Given the description of an element on the screen output the (x, y) to click on. 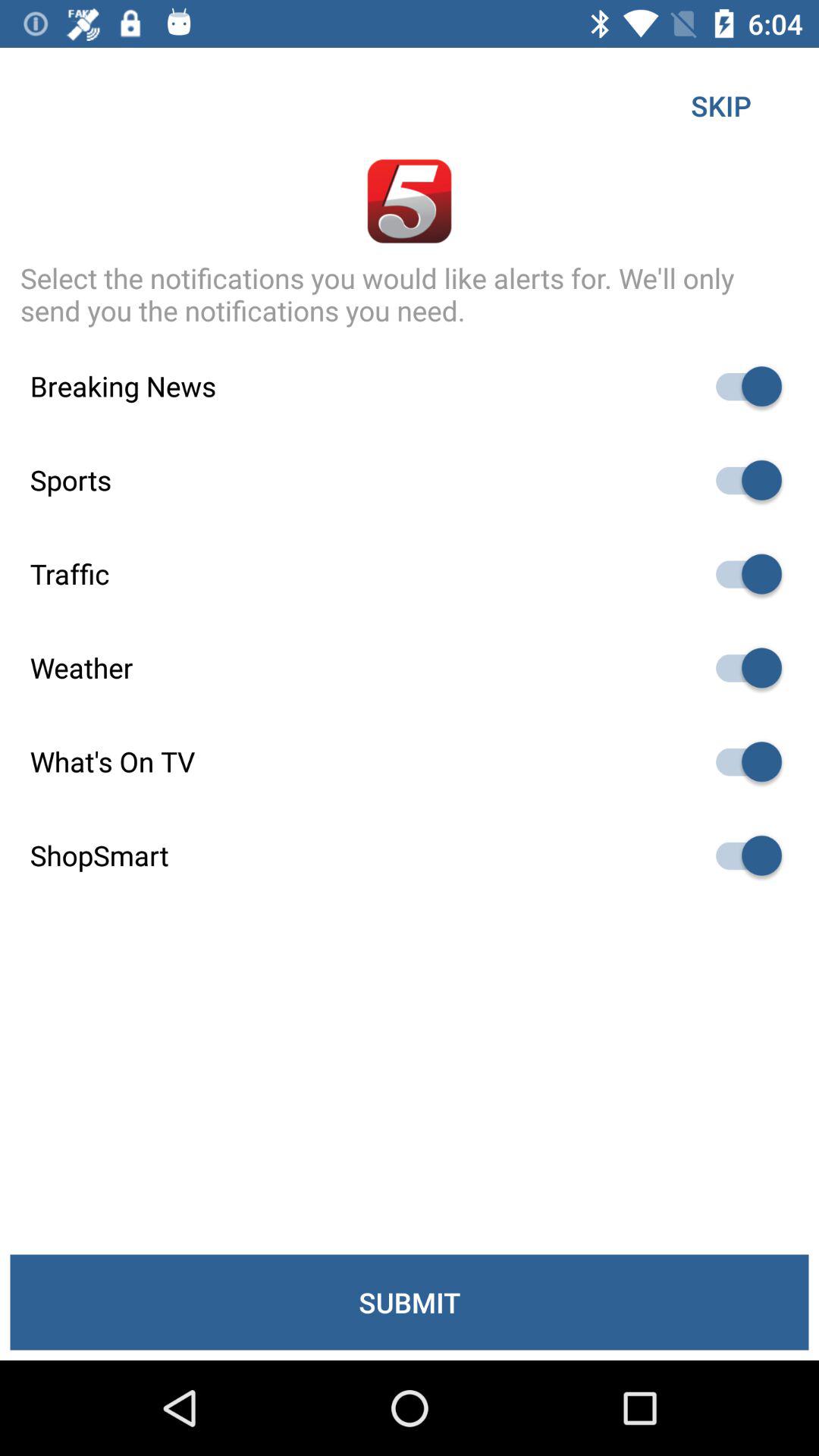
select sports-related news (741, 480)
